Given the description of an element on the screen output the (x, y) to click on. 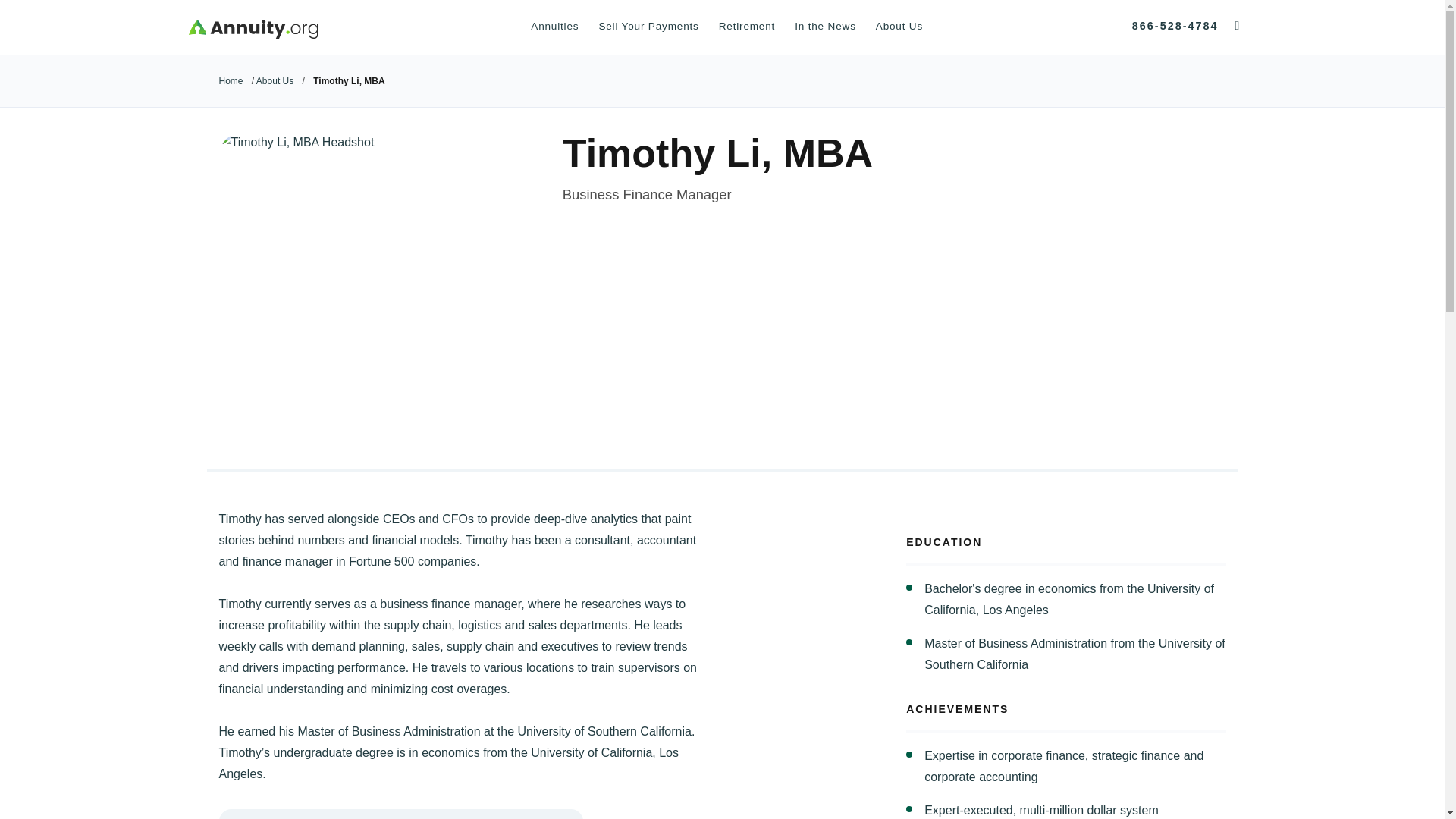
Sell Your Payments (648, 27)
Retirement (746, 27)
